Given the description of an element on the screen output the (x, y) to click on. 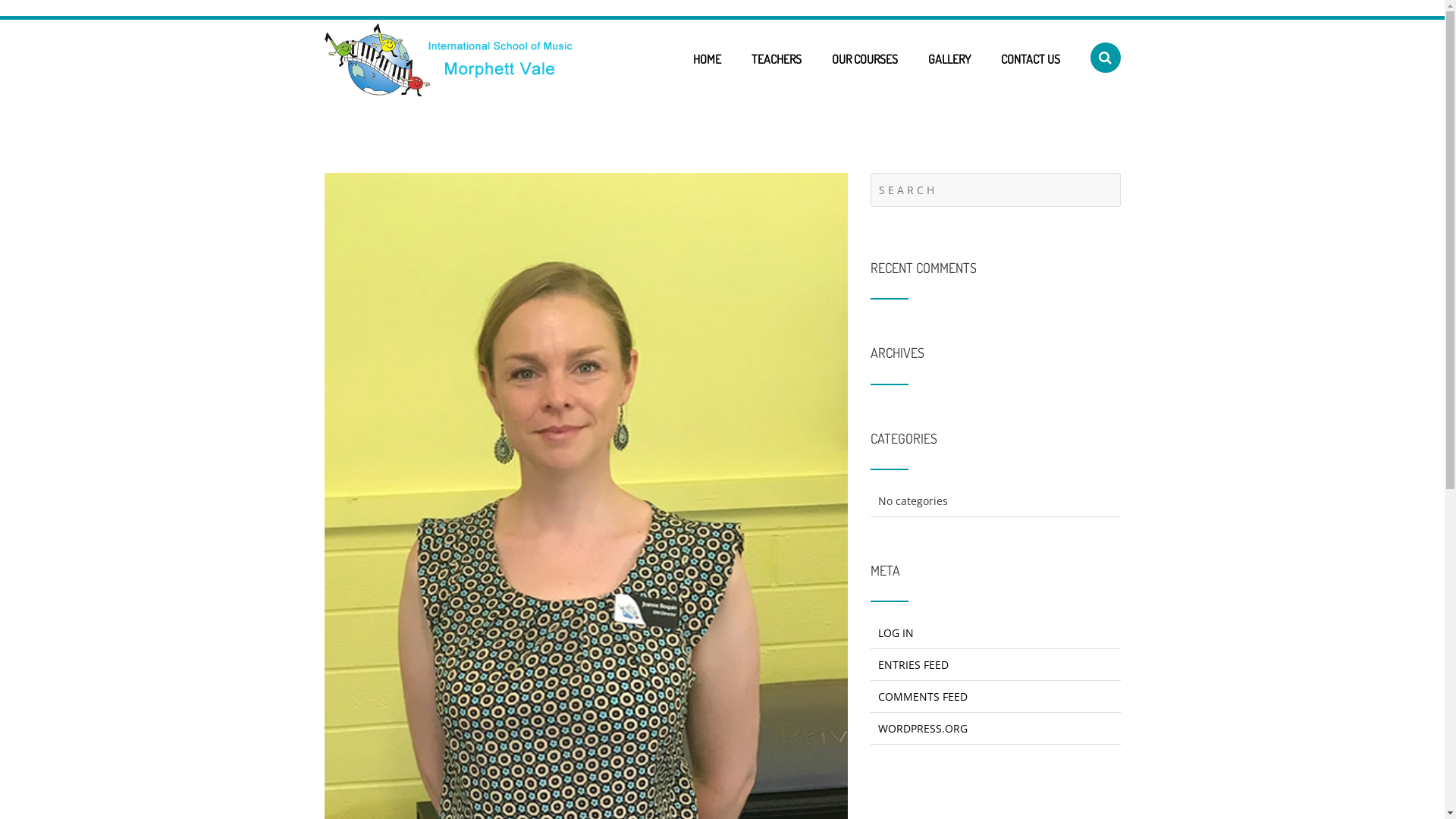
LOG IN Element type: text (895, 632)
OUR COURSES Element type: text (863, 58)
WORDPRESS.ORG Element type: text (922, 728)
CONTACT US Element type: text (1030, 58)
GALLERY Element type: text (949, 58)
HOME Element type: text (706, 58)
TEACHERS Element type: text (775, 58)
COMMENTS FEED Element type: text (922, 696)
ENTRIES FEED Element type: text (913, 664)
